Given the description of an element on the screen output the (x, y) to click on. 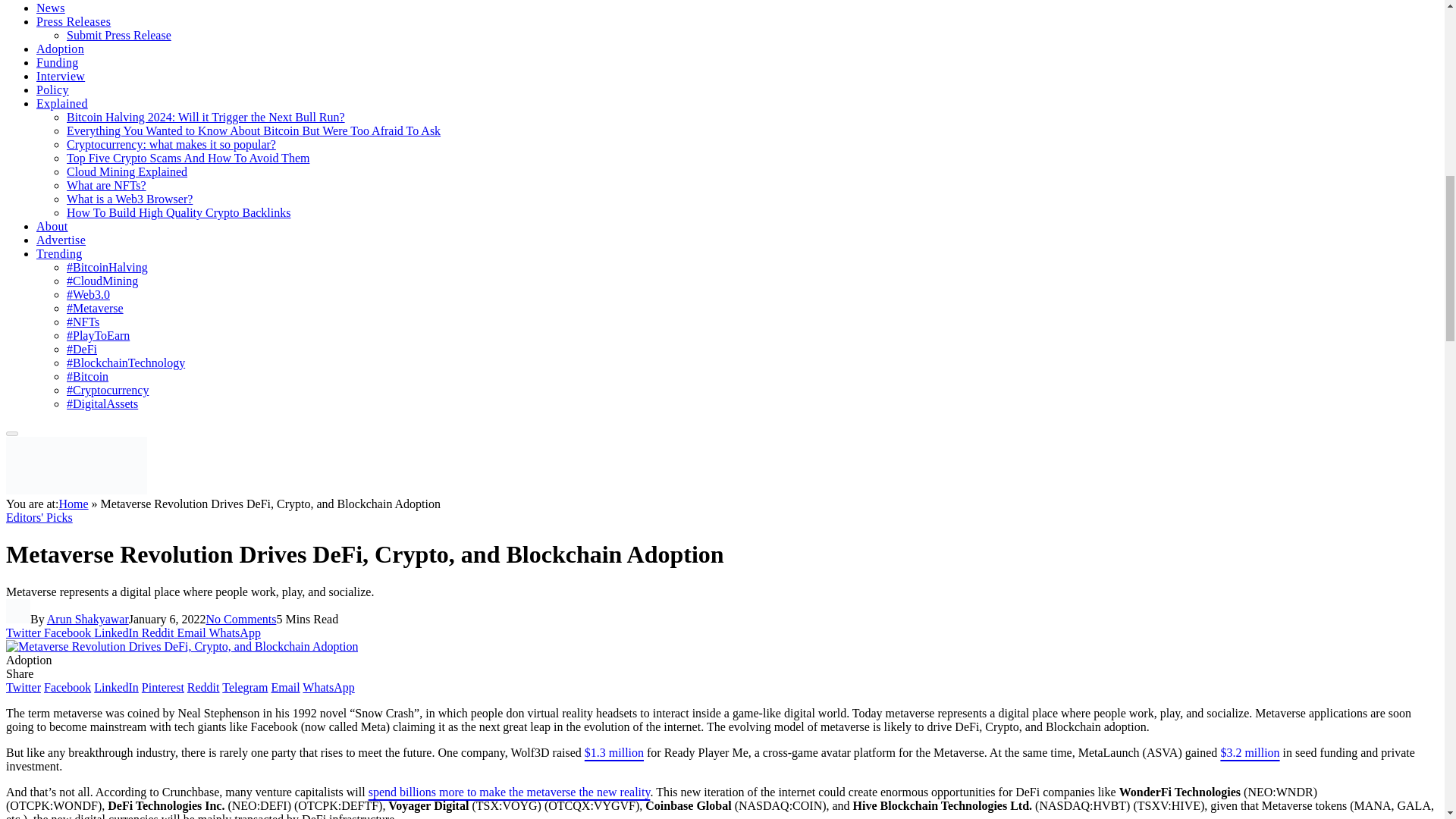
AlexaBlockchain (76, 490)
Posts by Arun Shakyawar (87, 618)
Share on Facebook (68, 632)
Share via Email (193, 632)
Share on LinkedIn (117, 632)
Share on Reddit (159, 632)
Share on WhatsApp (234, 632)
